Given the description of an element on the screen output the (x, y) to click on. 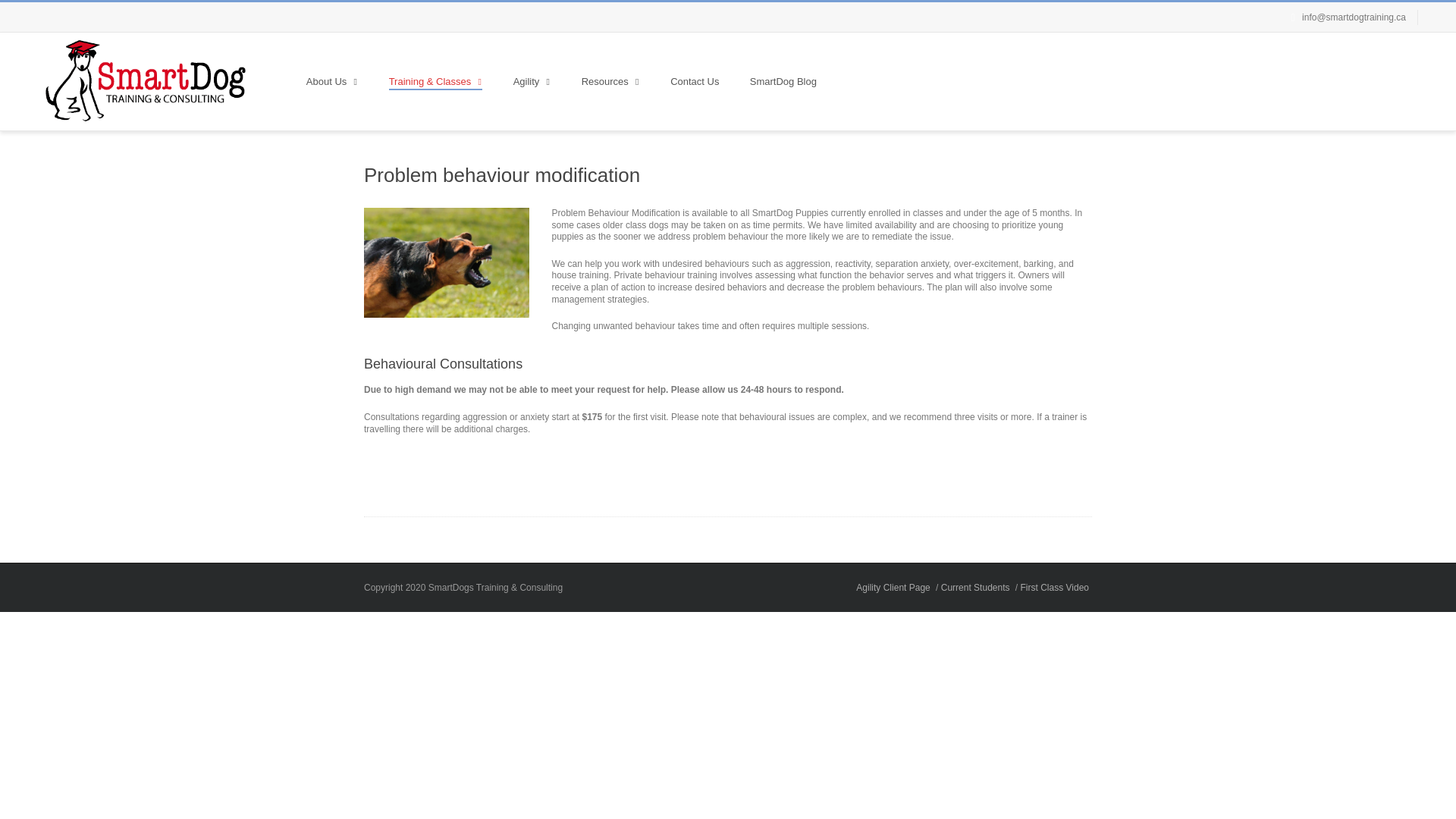
SmartDog Blog (783, 81)
About Us (331, 81)
Resources (610, 81)
